Given the description of an element on the screen output the (x, y) to click on. 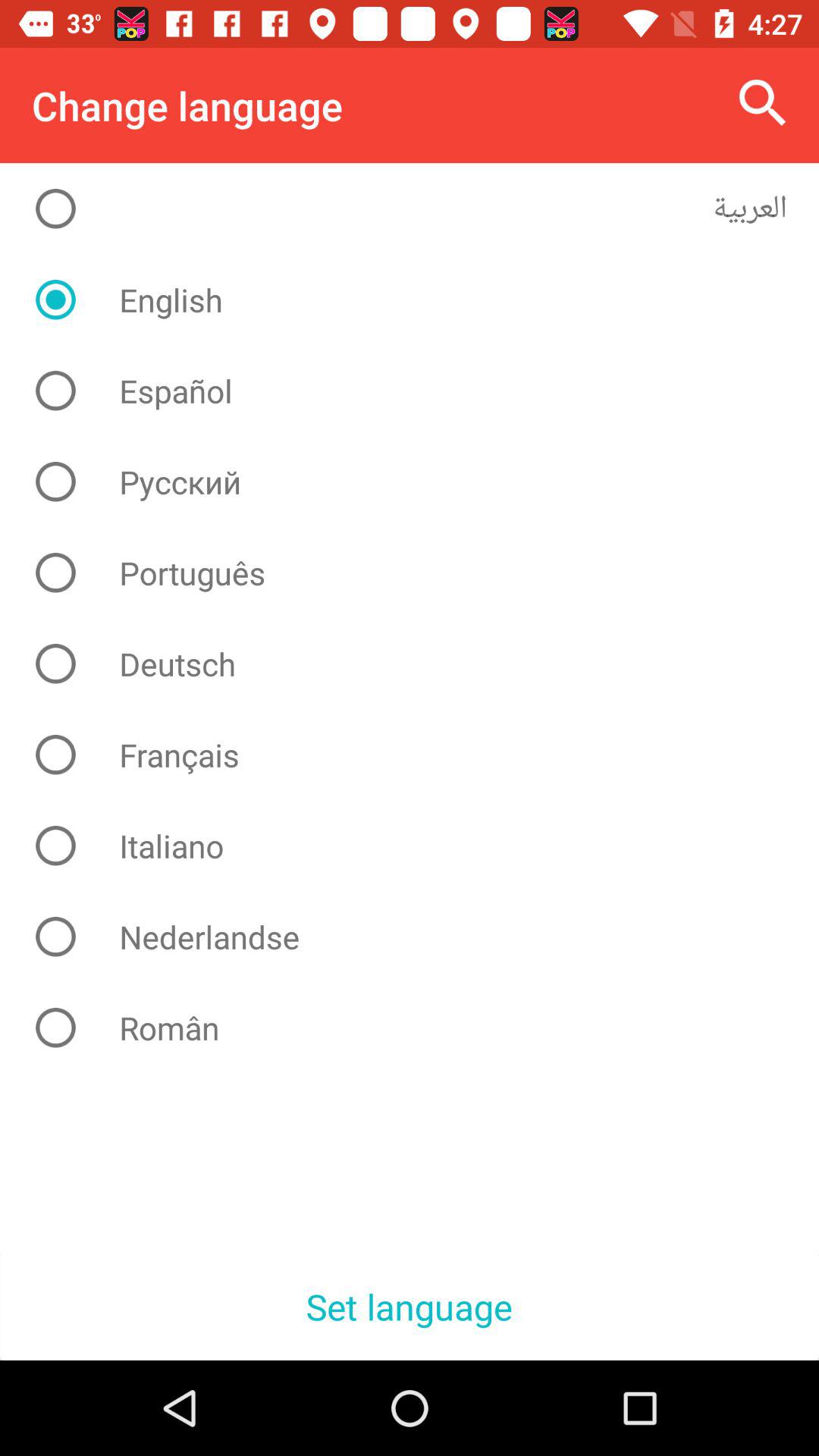
flip to the english icon (421, 299)
